Given the description of an element on the screen output the (x, y) to click on. 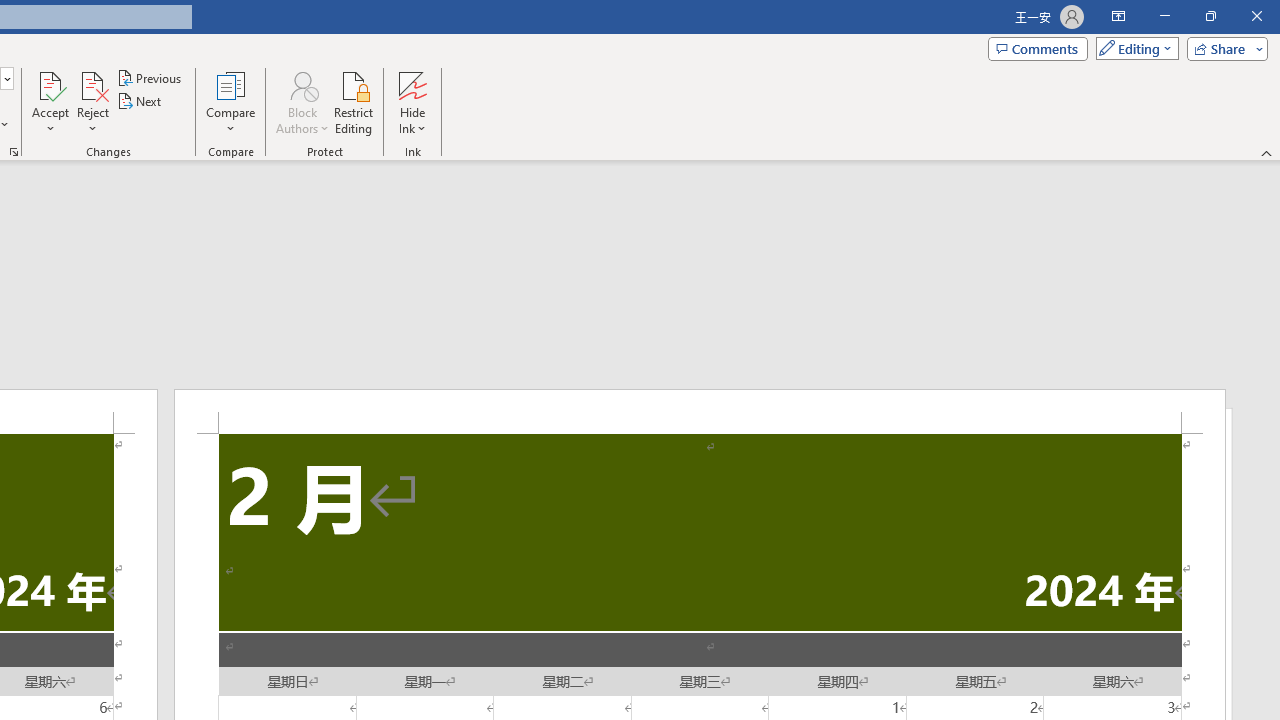
Reject (92, 102)
Block Authors (302, 102)
Hide Ink (412, 84)
Previous (150, 78)
Block Authors (302, 84)
